Given the description of an element on the screen output the (x, y) to click on. 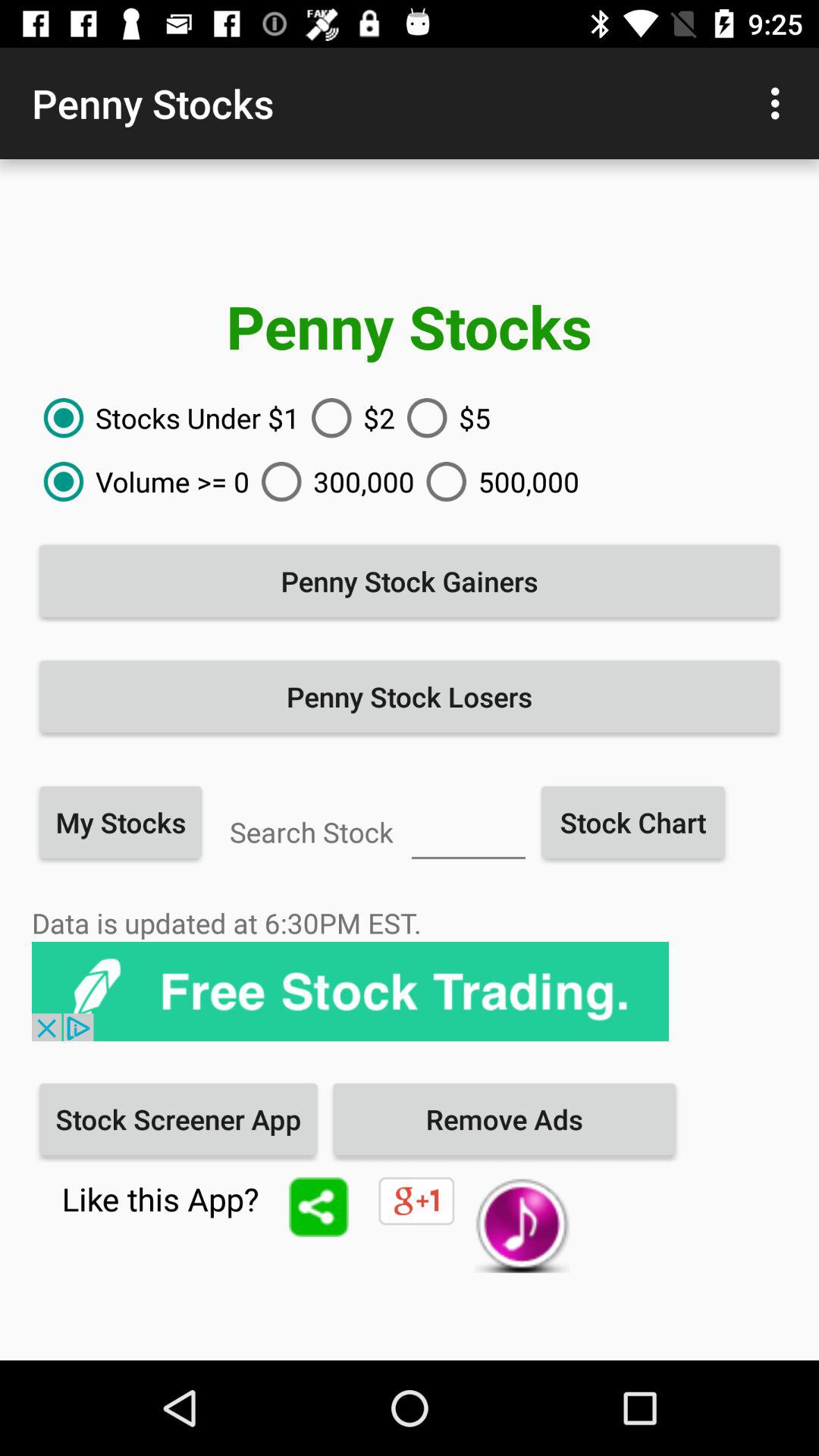
share app (318, 1207)
